Given the description of an element on the screen output the (x, y) to click on. 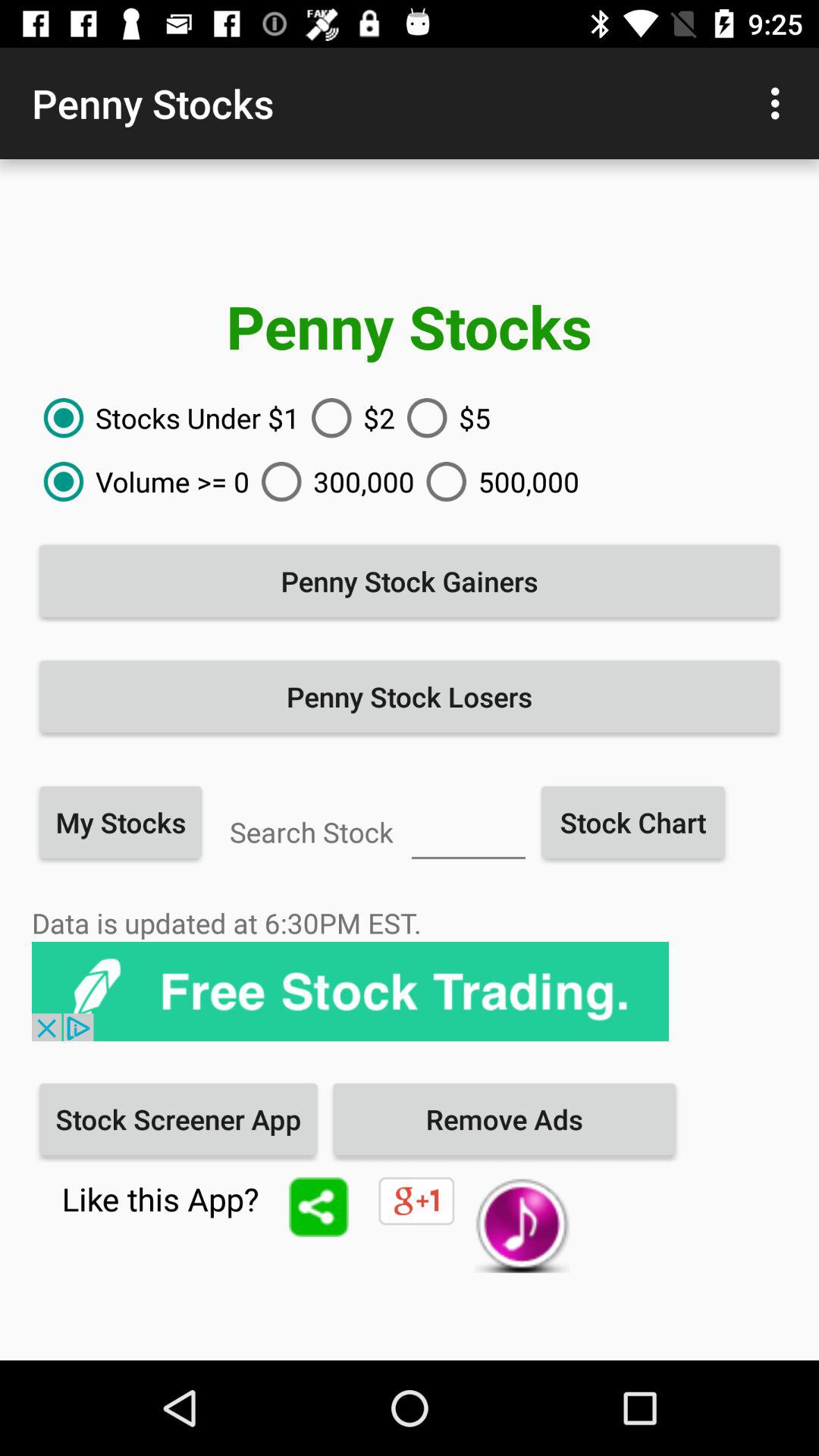
share app (318, 1207)
